Given the description of an element on the screen output the (x, y) to click on. 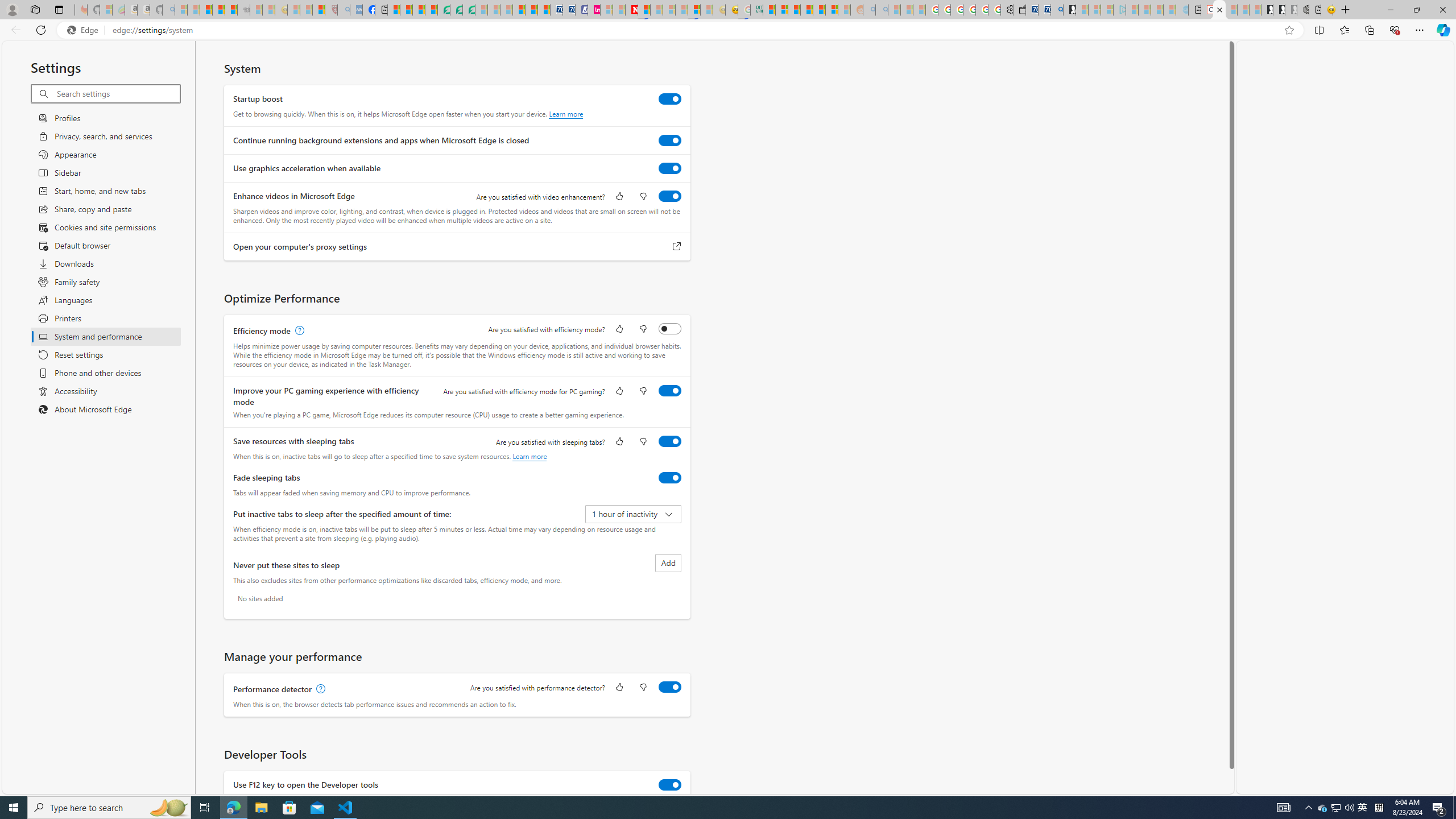
Enhance videos in Microsoft Edge (669, 196)
Terms of Use Agreement (456, 9)
